Given the description of an element on the screen output the (x, y) to click on. 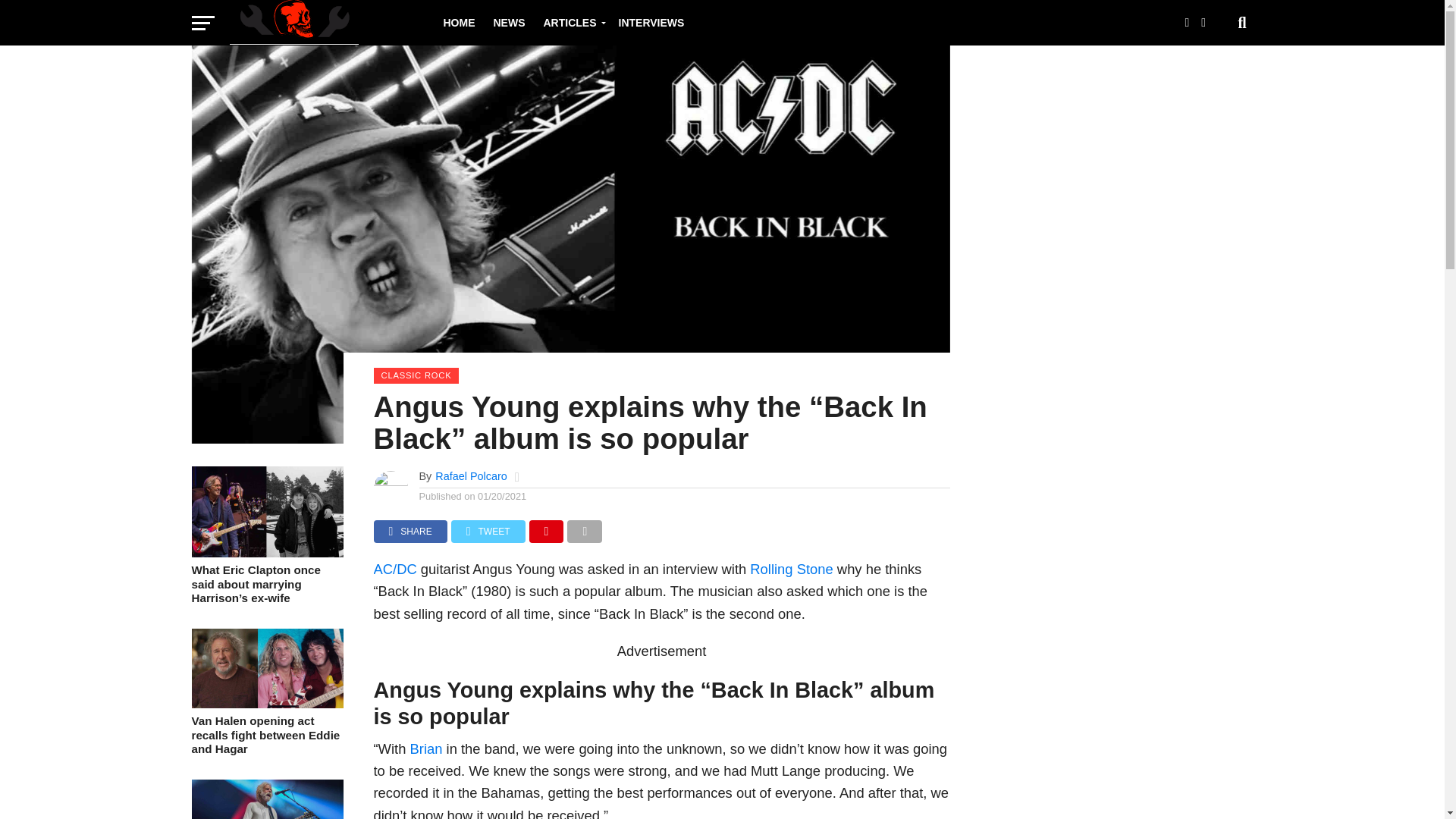
Van Halen opening act recalls fight between Eddie and Hagar (266, 703)
Posts by Rafael Polcaro (470, 476)
ARTICLES (571, 22)
HOME (458, 22)
INTERVIEWS (652, 22)
Van Halen opening act recalls fight between Eddie and Hagar (266, 735)
NEWS (508, 22)
